Given the description of an element on the screen output the (x, y) to click on. 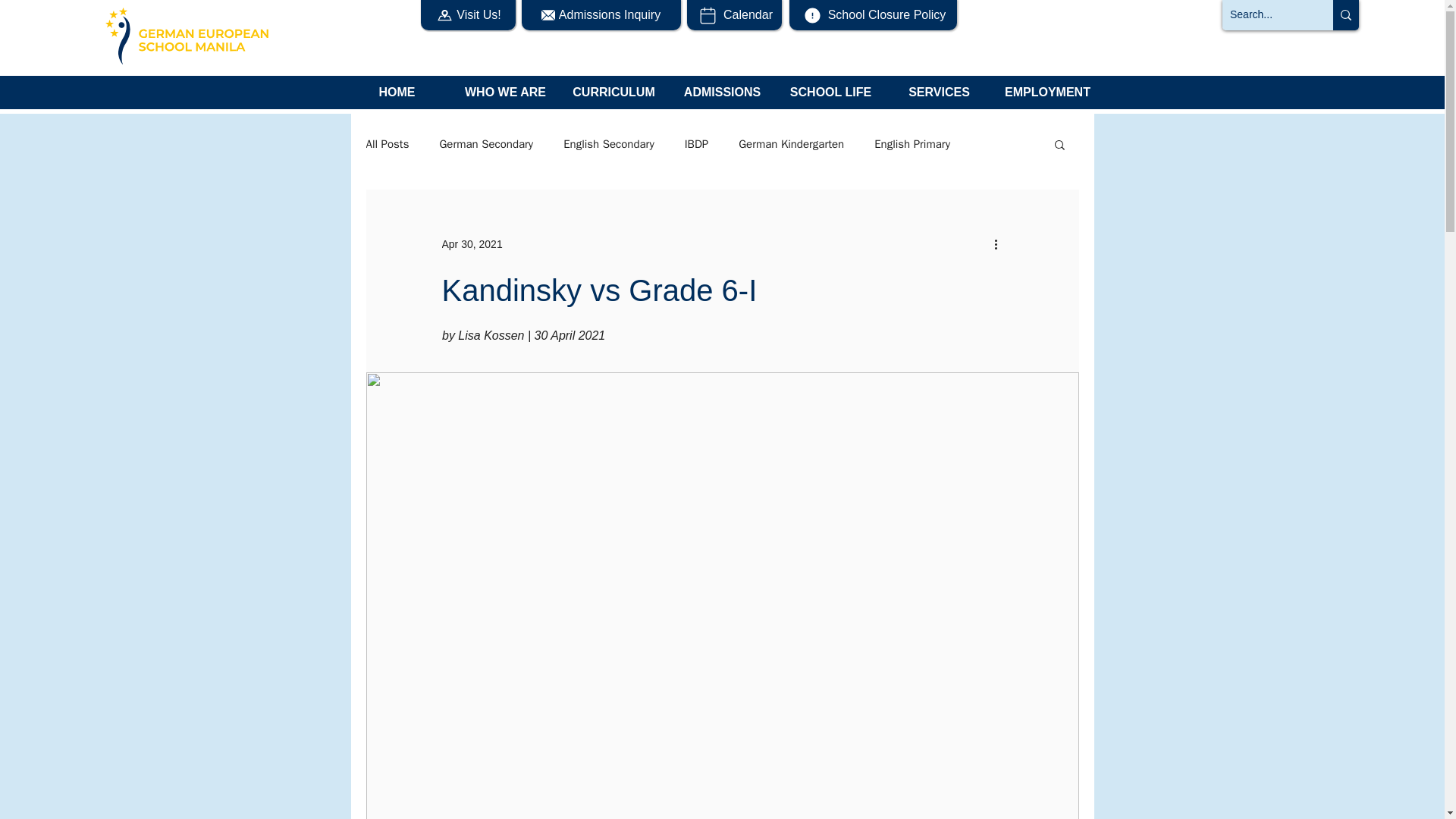
SCHOOL LIFE (830, 96)
Visit Us! (467, 15)
IBDP (695, 143)
School Closure Policy (872, 15)
German Secondary (485, 143)
CURRICULUM (613, 96)
All Posts (387, 143)
HOME (396, 96)
Admissions Inquiry (601, 15)
English Primary (912, 143)
